Given the description of an element on the screen output the (x, y) to click on. 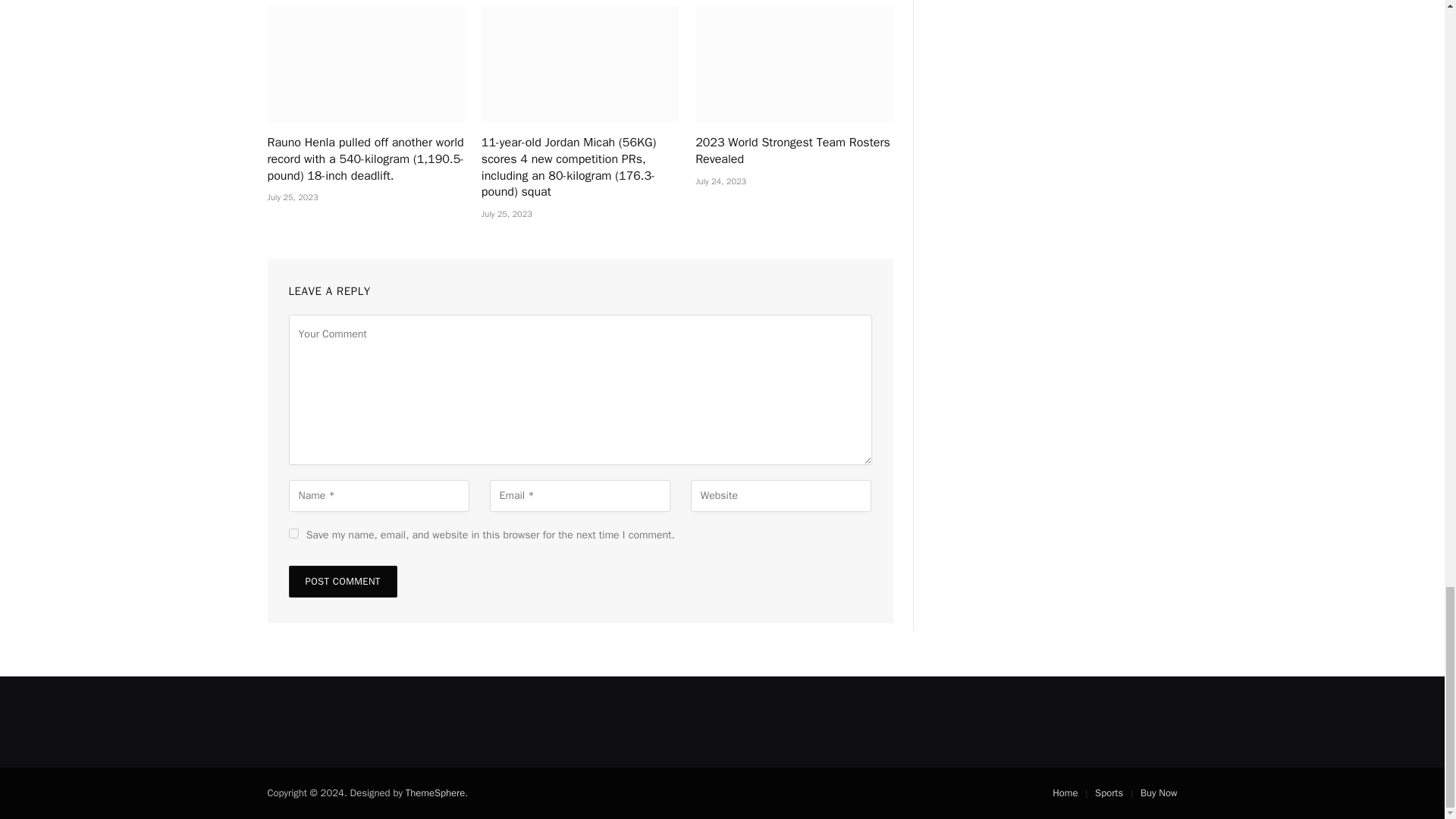
2023 World Strongest Team Rosters Revealed (793, 151)
Post Comment (342, 581)
2023 World Strongest Team Rosters Revealed (793, 63)
yes (293, 533)
